Given the description of an element on the screen output the (x, y) to click on. 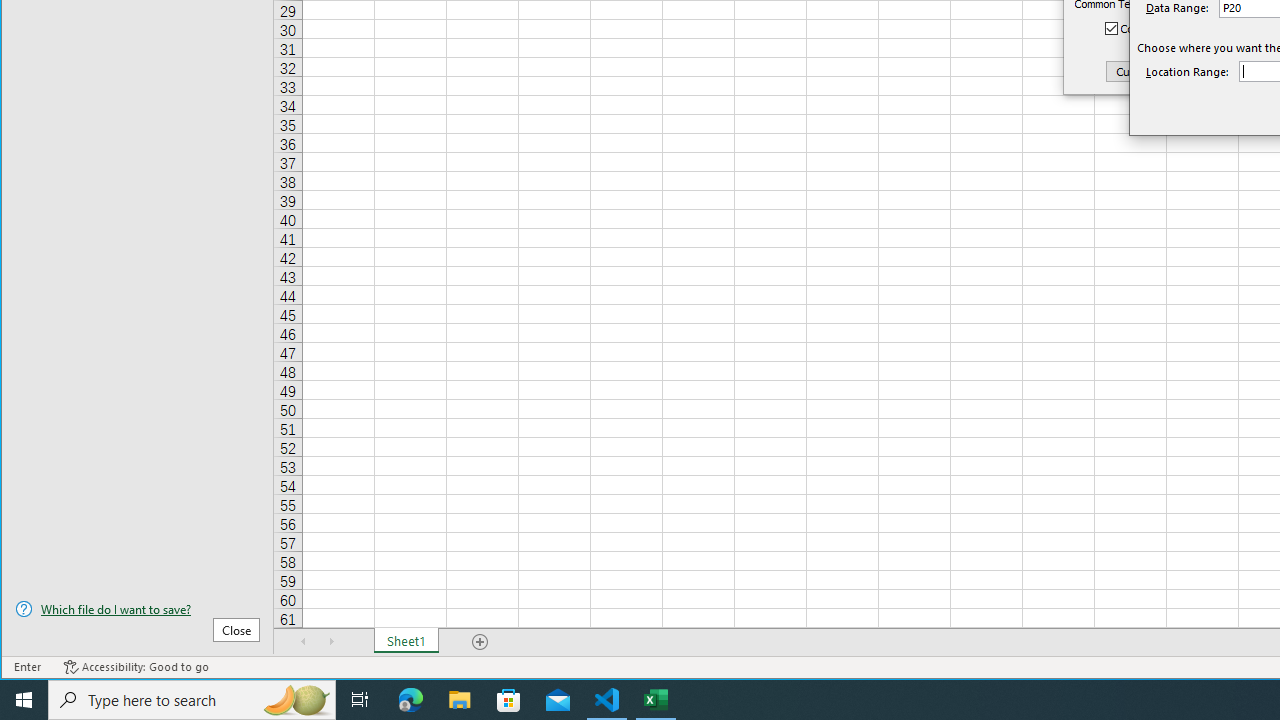
Type here to search (191, 699)
Start (24, 699)
Task View (359, 699)
Excel - 1 running window (656, 699)
Search highlights icon opens search home window (295, 699)
File Explorer (460, 699)
Microsoft Edge (411, 699)
Visual Studio Code - 1 running window (607, 699)
